Given the description of an element on the screen output the (x, y) to click on. 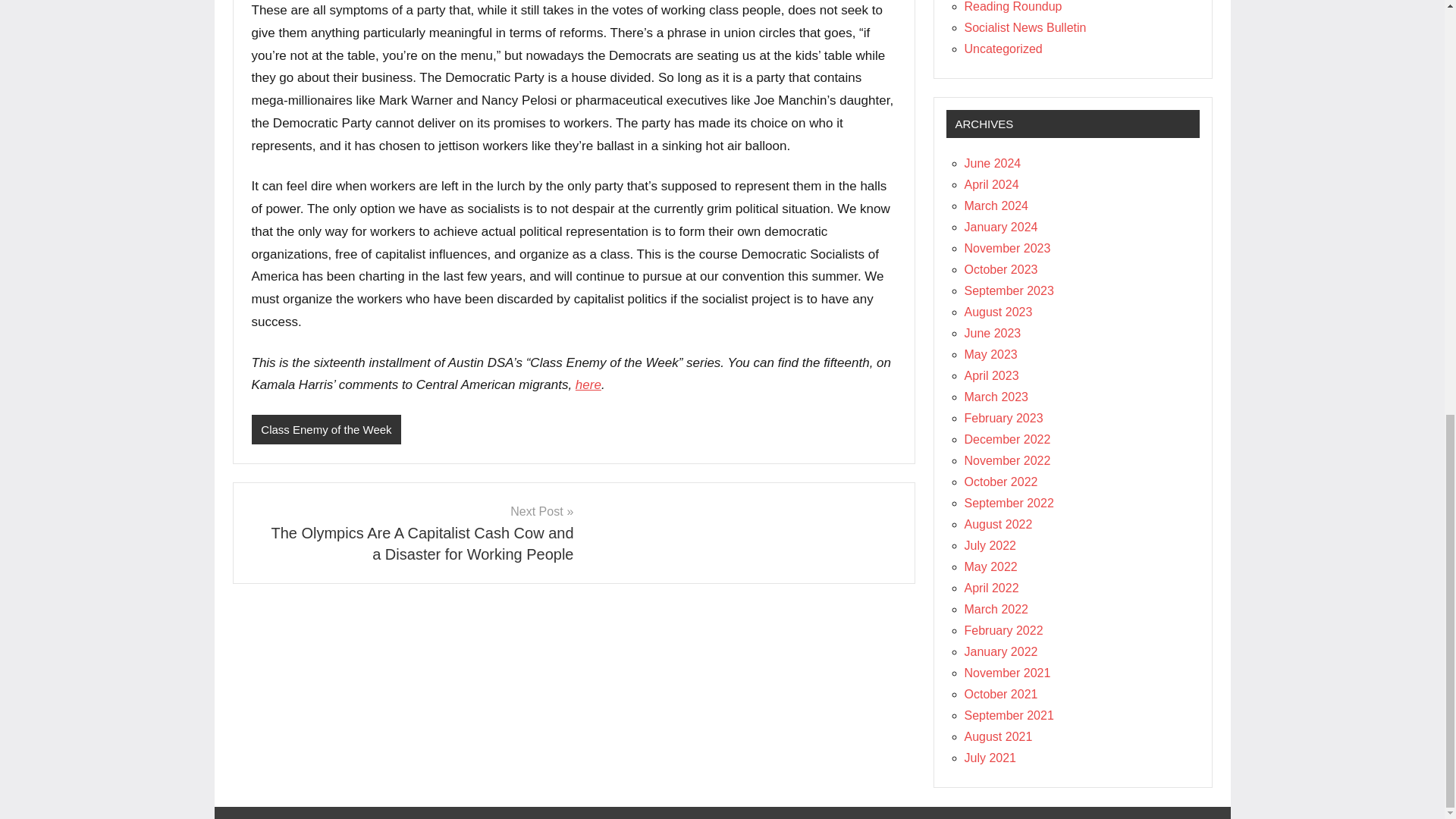
Uncategorized (1002, 48)
November 2023 (1007, 247)
August 2023 (997, 311)
January 2024 (1000, 226)
March 2024 (996, 205)
September 2023 (1008, 290)
Class Enemy of the Week (326, 429)
June 2024 (992, 163)
June 2023 (992, 332)
October 2023 (1000, 269)
Socialist News Bulletin (1024, 27)
here (588, 384)
Reading Roundup (1012, 6)
April 2024 (991, 184)
